Given the description of an element on the screen output the (x, y) to click on. 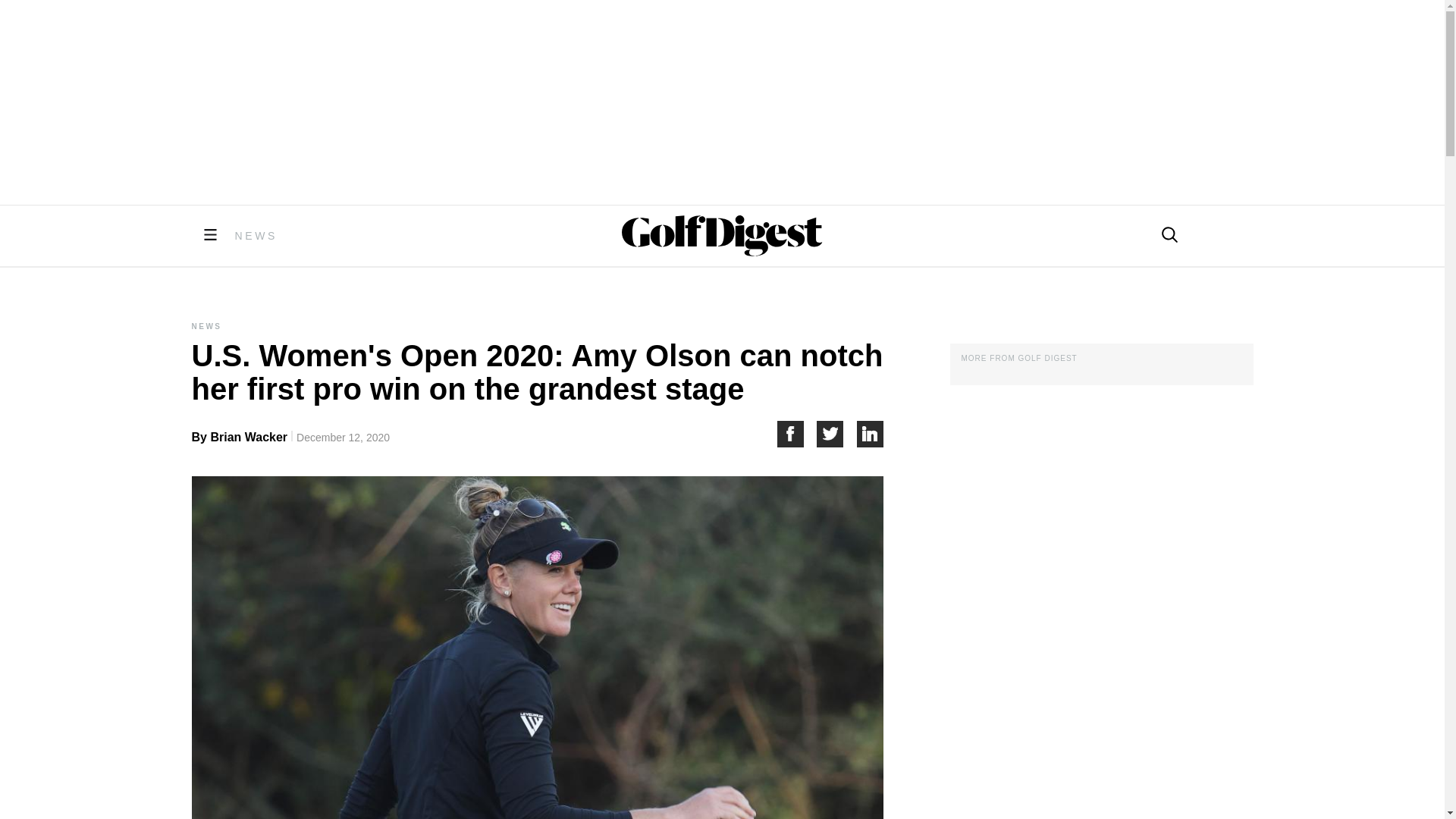
Share on LinkedIn (870, 433)
Share on Twitter (836, 433)
NEWS (256, 235)
Share on Facebook (796, 433)
